Given the description of an element on the screen output the (x, y) to click on. 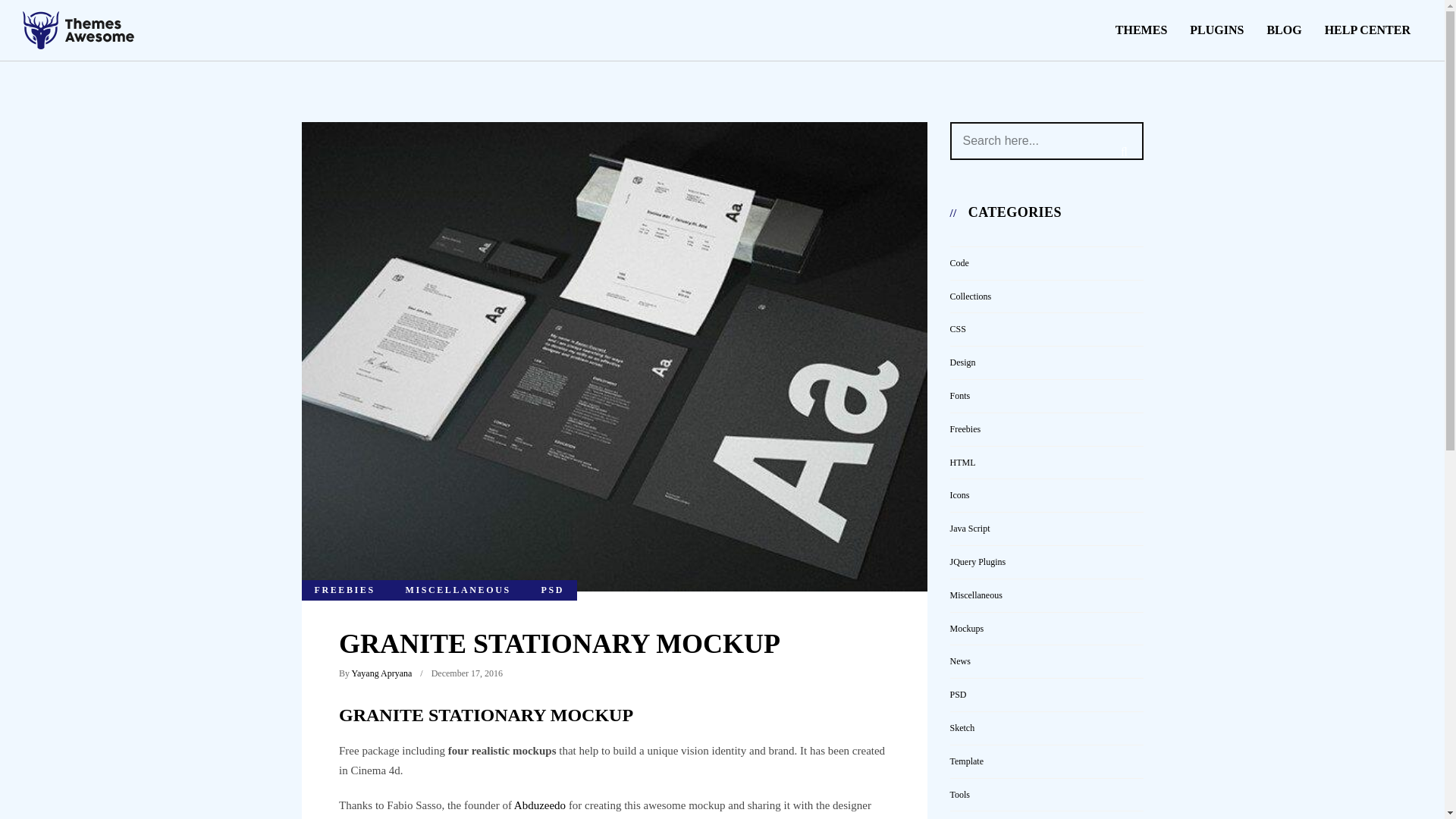
Tools (959, 794)
Template (965, 760)
Freebies (964, 429)
PSD (552, 589)
Abduzeedo (539, 805)
Sketch (961, 727)
Help Center (1367, 29)
Java Script (969, 528)
Miscellaneous (975, 594)
